Given the description of an element on the screen output the (x, y) to click on. 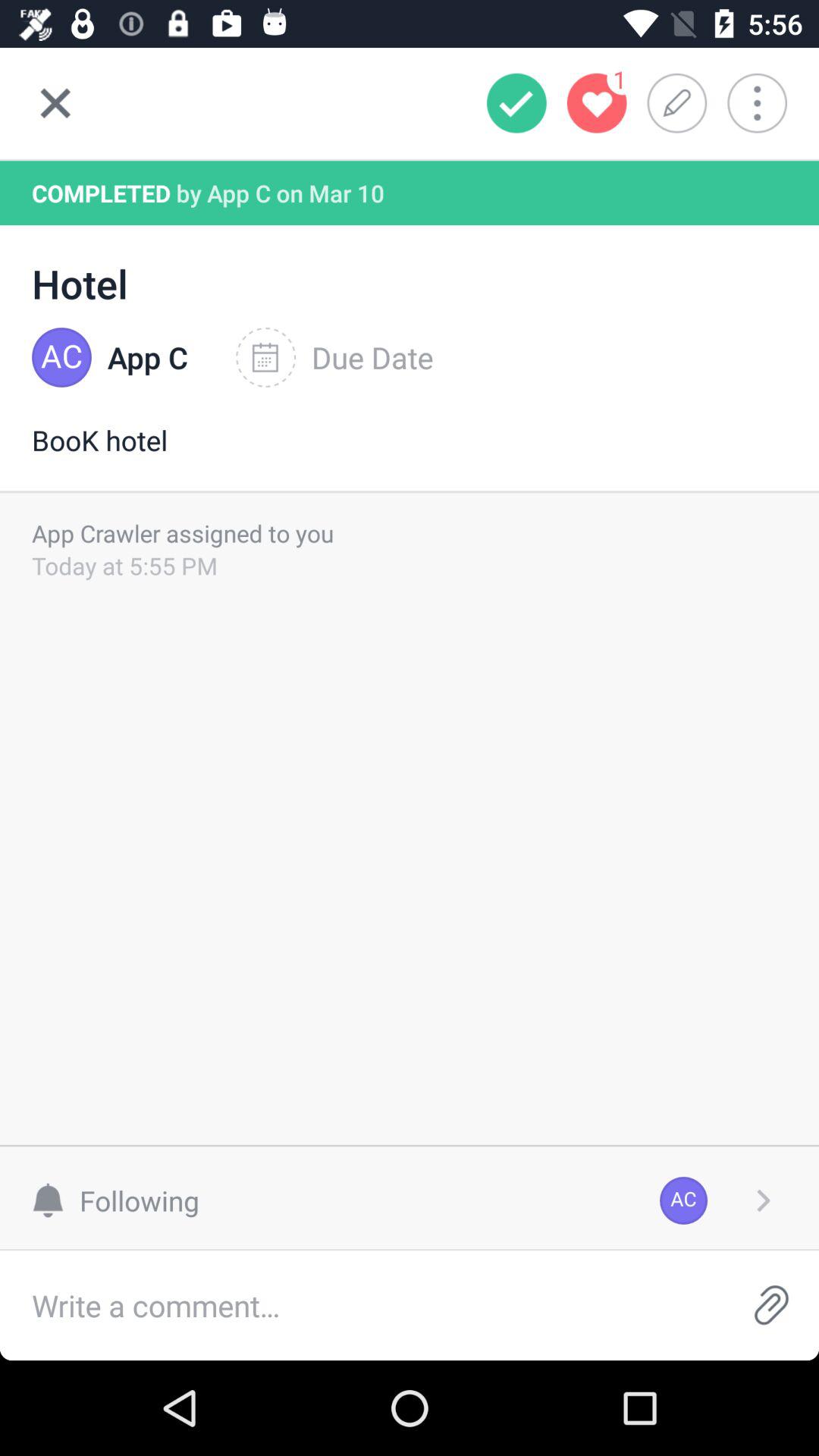
go to next (763, 1200)
